Given the description of an element on the screen output the (x, y) to click on. 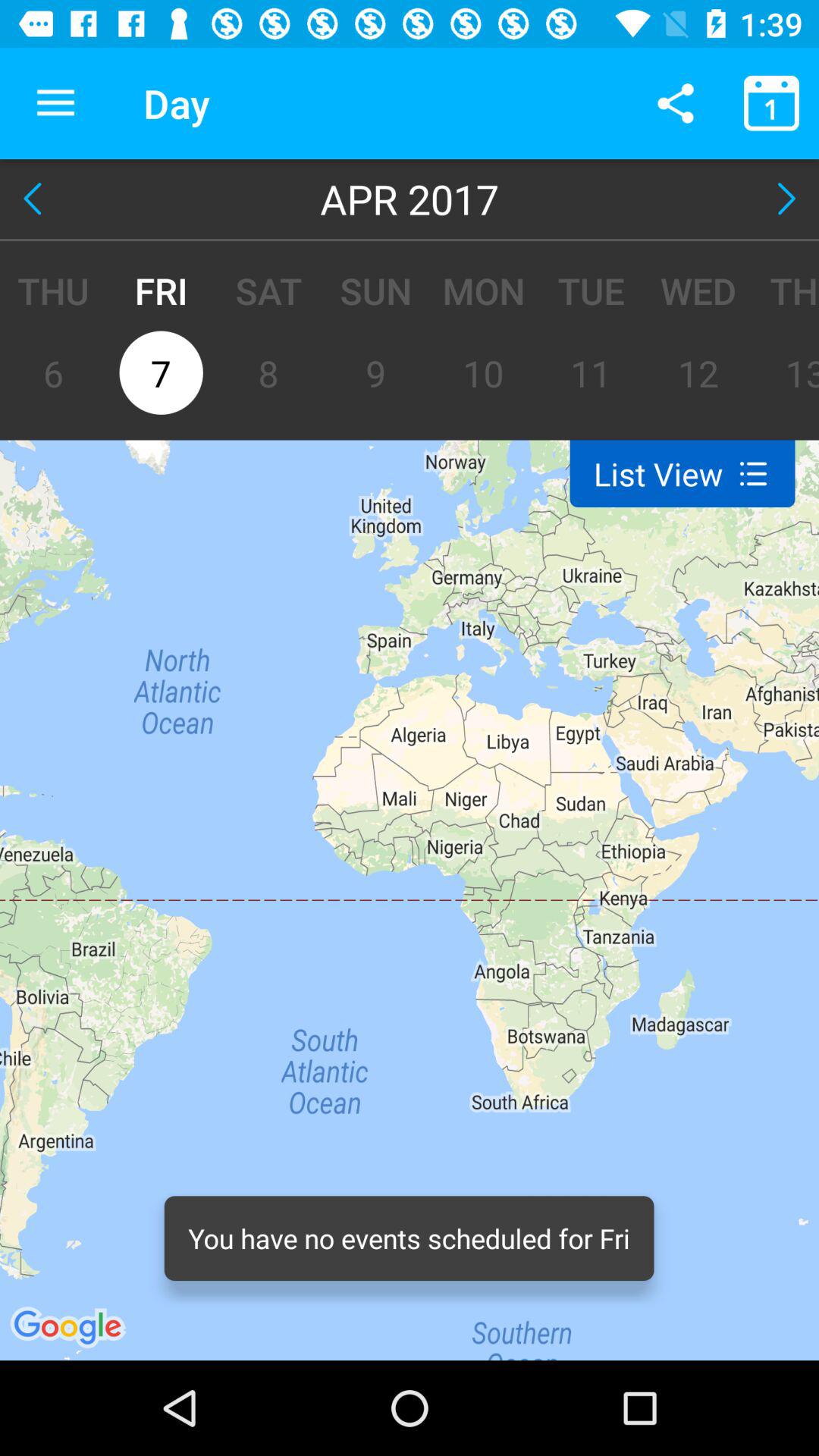
turn on the item next to apr 2017 item (35, 198)
